Given the description of an element on the screen output the (x, y) to click on. 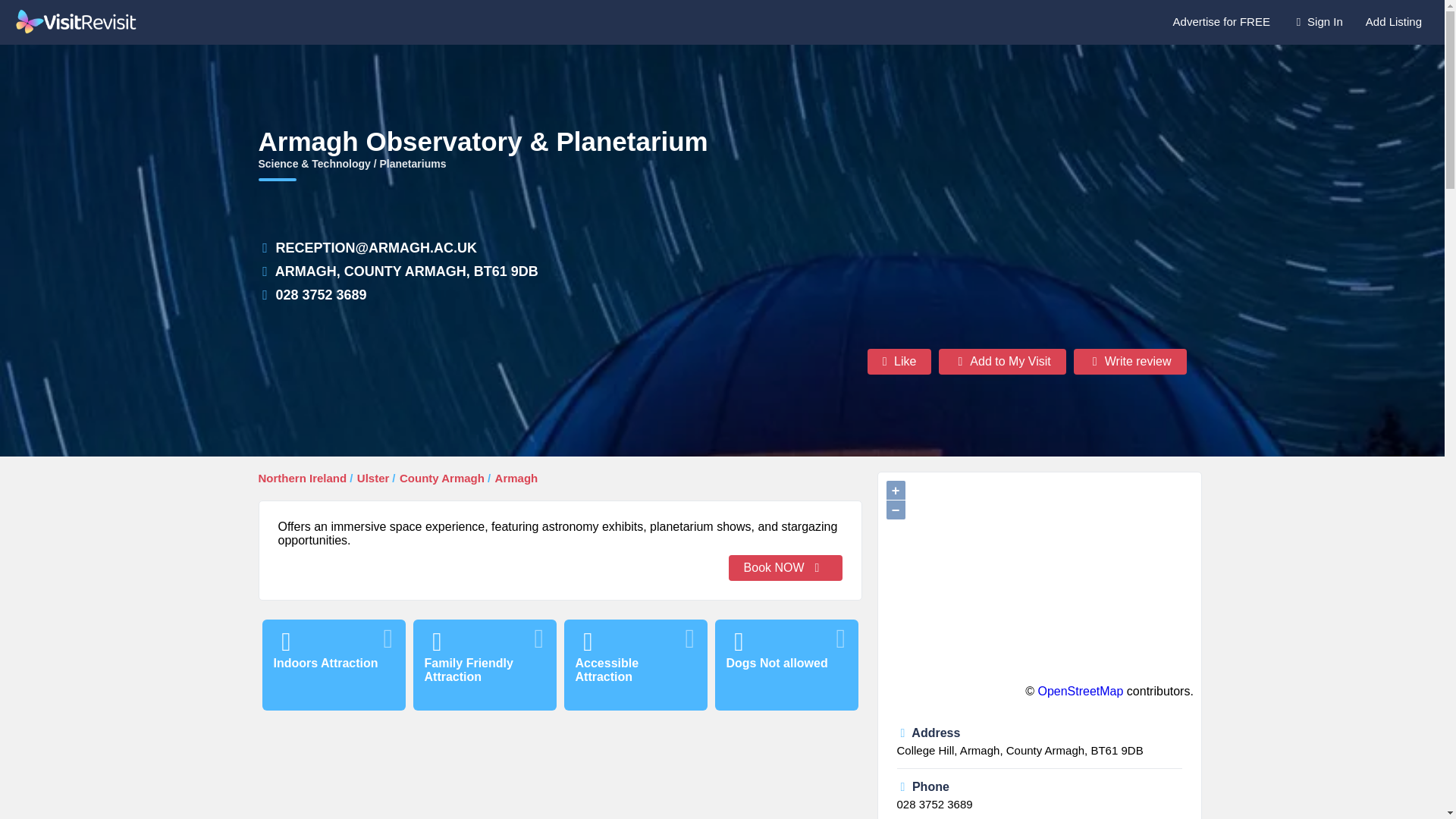
Zoom out (894, 509)
028 3752 3689 (934, 803)
Advertise for FREE (1221, 21)
Add to My Visit (1002, 361)
Like (899, 361)
OpenStreetMap (1079, 690)
Write review (1130, 361)
Book NOW   (786, 567)
Armagh (516, 477)
Add Listing (1393, 21)
